Given the description of an element on the screen output the (x, y) to click on. 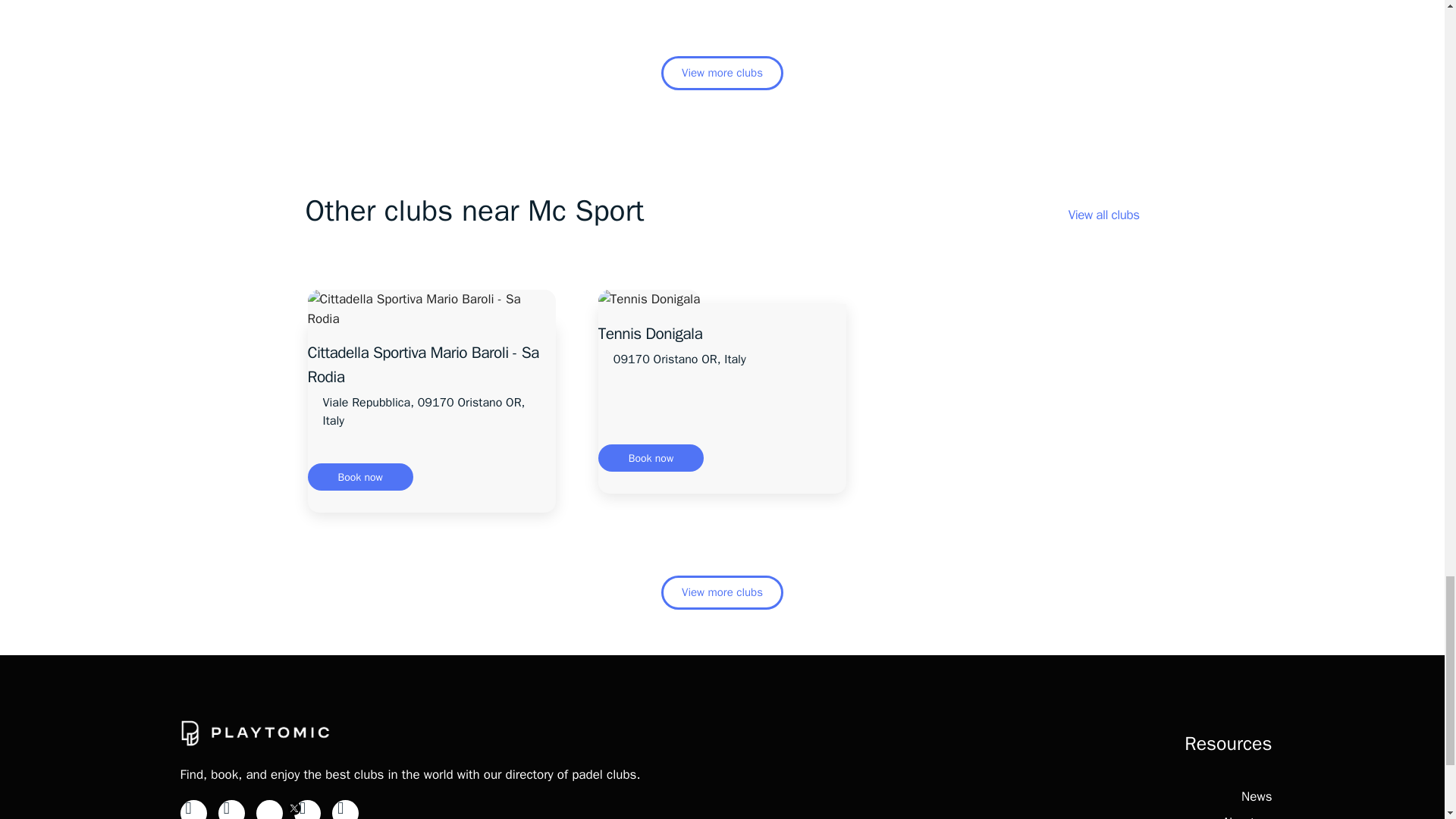
Book now (360, 476)
View more clubs (722, 592)
View all clubs (1104, 214)
View more clubs (722, 73)
Book now (650, 457)
News (1256, 796)
About us (1247, 816)
